Given the description of an element on the screen output the (x, y) to click on. 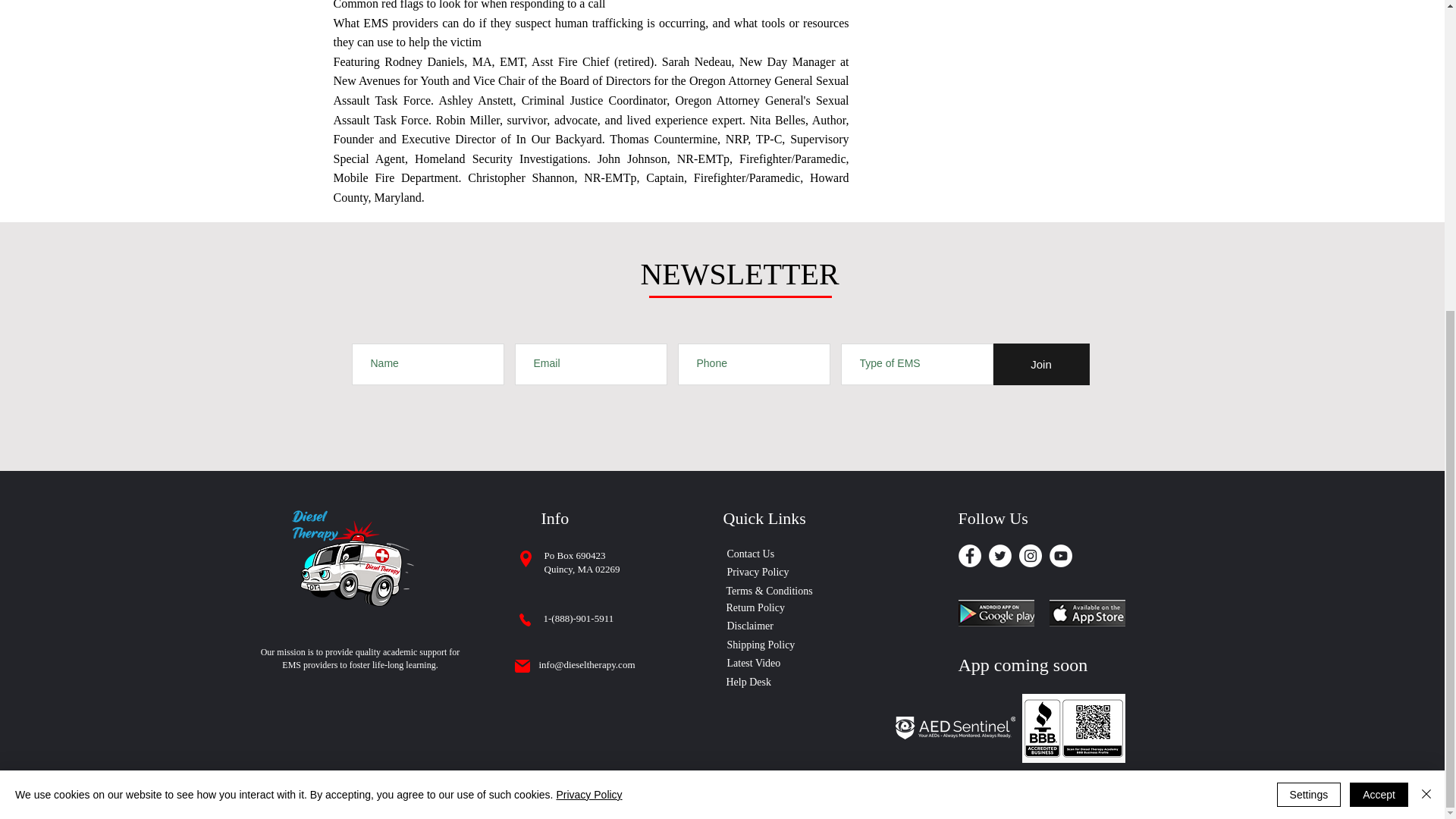
Latest Video (759, 663)
Help Desk (752, 682)
Return Policy (774, 607)
Shipping Policy (766, 645)
Accessibility Menu (26, 297)
Join (1040, 363)
Contact Us (774, 554)
Disclaimer (754, 626)
Privacy Policy (774, 572)
